Given the description of an element on the screen output the (x, y) to click on. 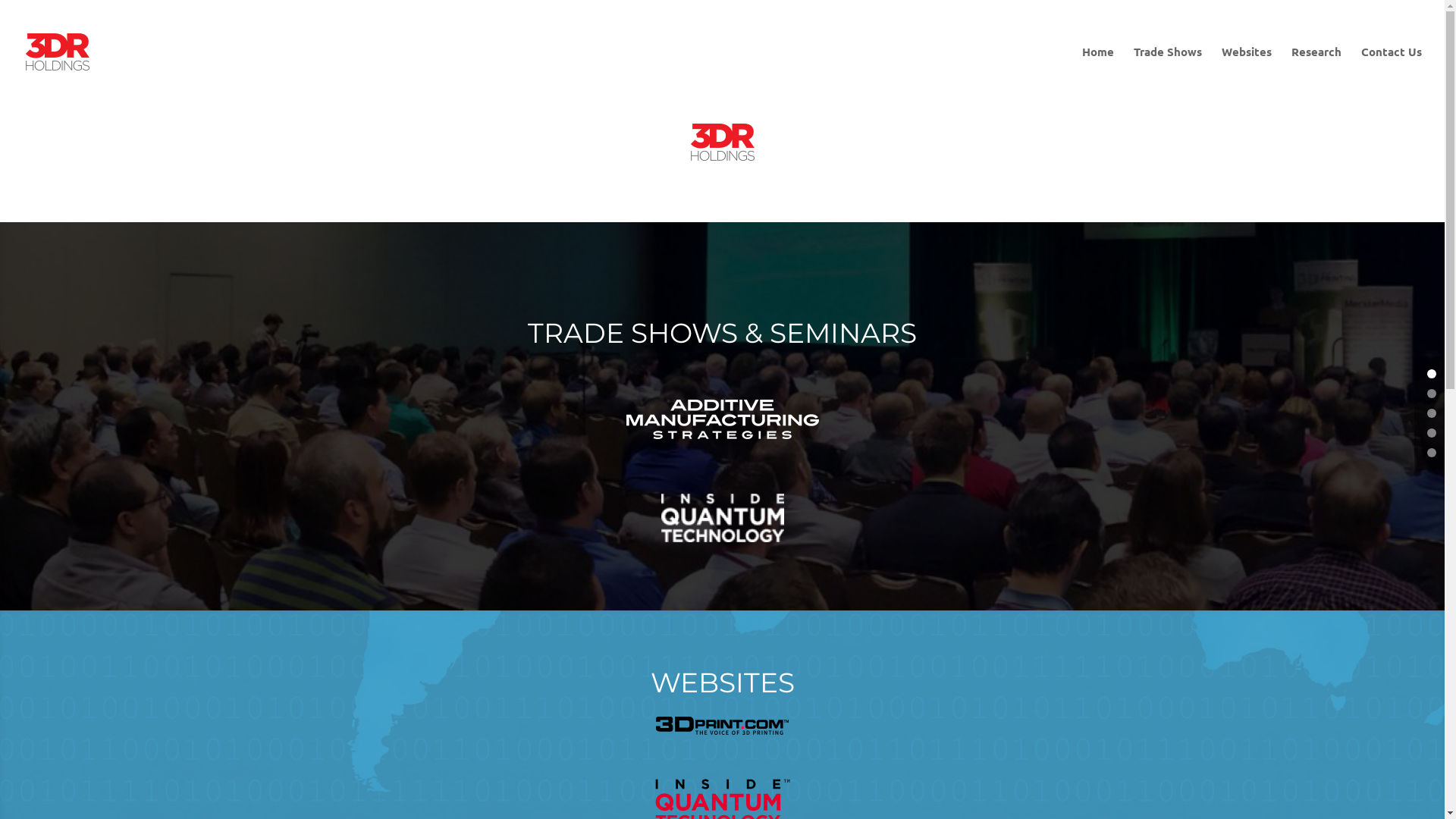
Websites Element type: text (1246, 74)
4 Element type: text (1431, 452)
Trade Shows Element type: text (1167, 74)
Contact Us Element type: text (1391, 74)
Home Element type: text (1097, 74)
2 Element type: text (1431, 412)
0 Element type: text (1431, 373)
3 Element type: text (1431, 432)
3drholdings Element type: hover (721, 141)
Research Element type: text (1316, 74)
1 Element type: text (1431, 393)
